Given the description of an element on the screen output the (x, y) to click on. 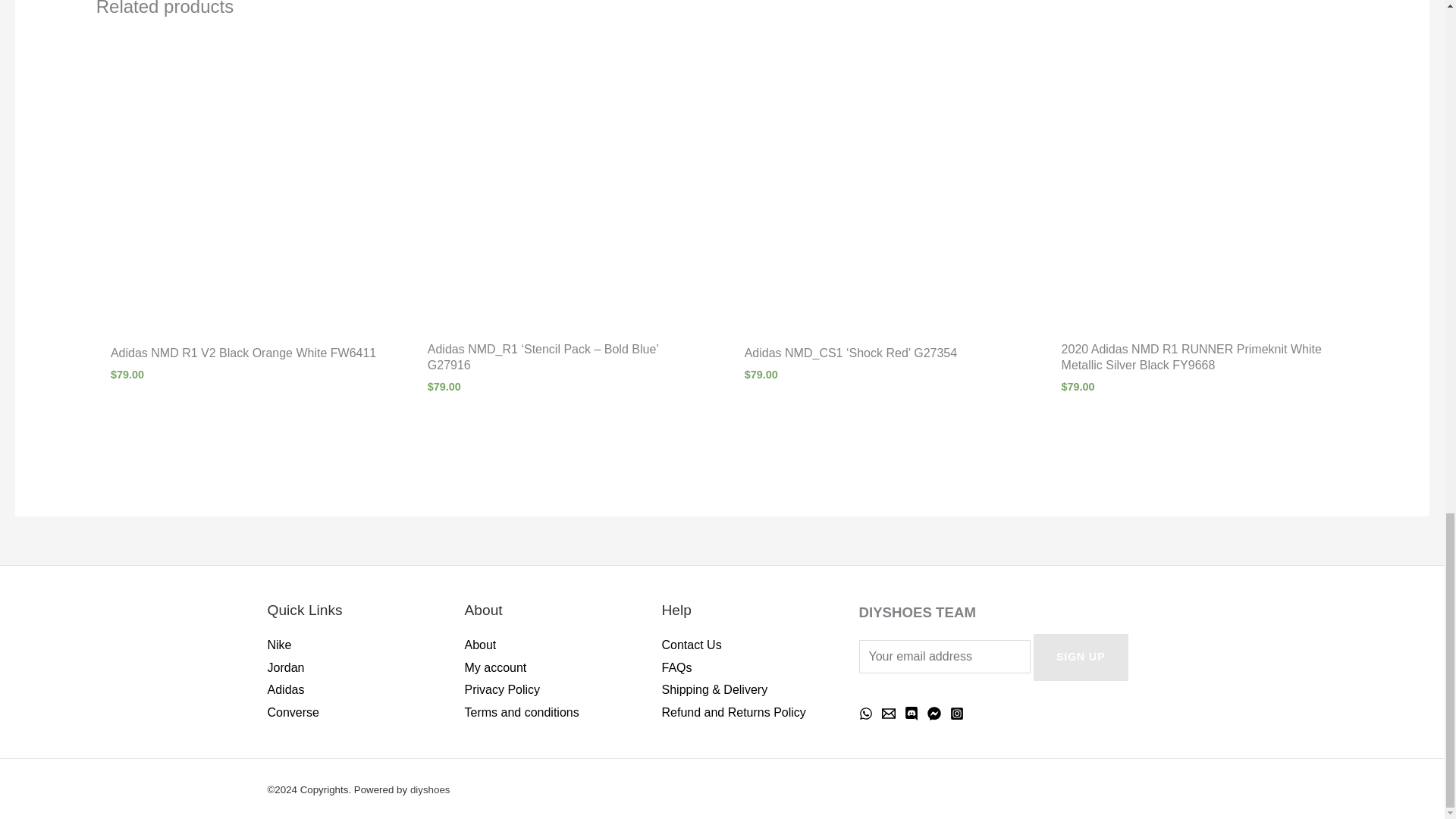
Sign up (1080, 656)
